Given the description of an element on the screen output the (x, y) to click on. 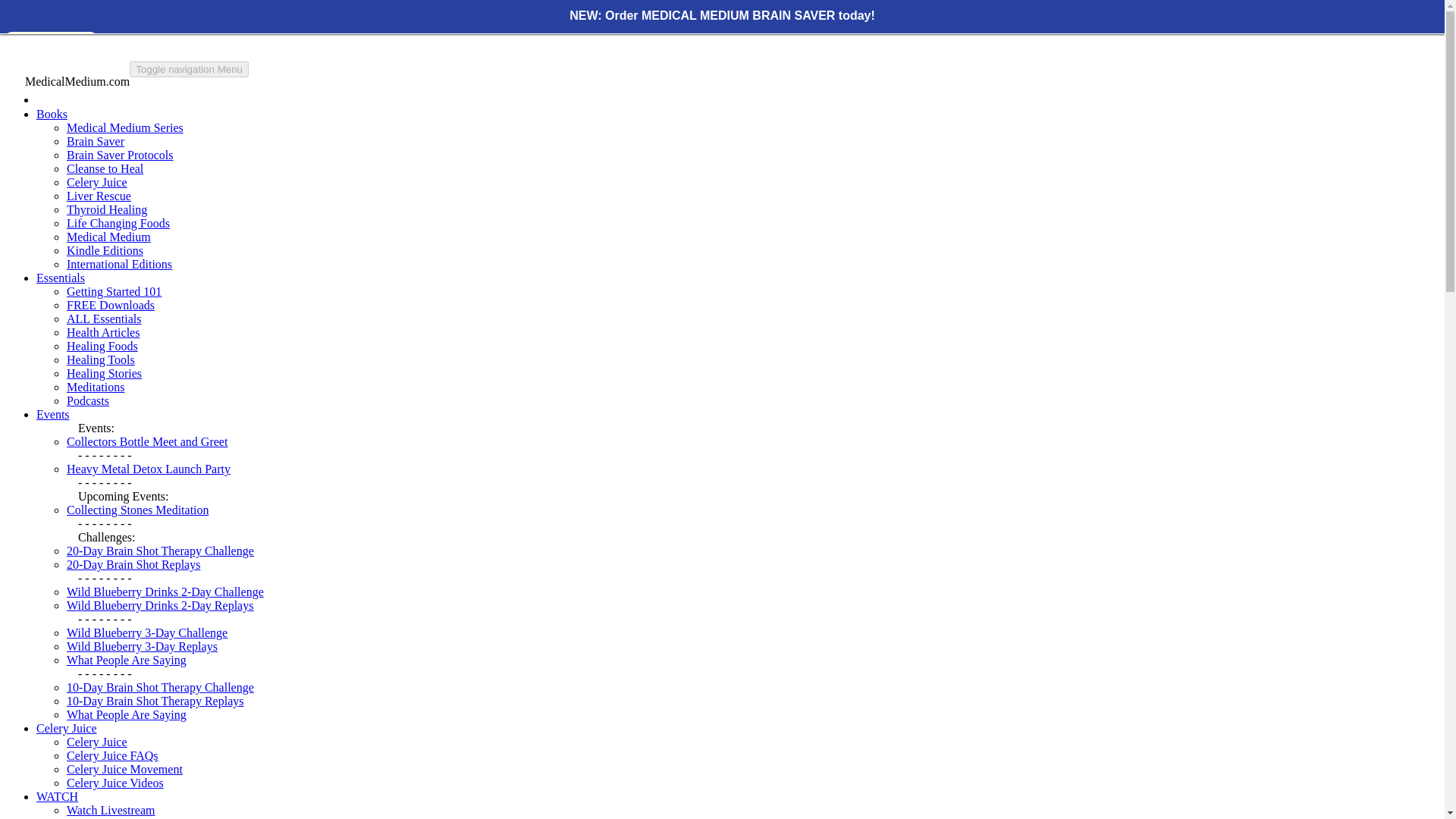
Thyroid Healing (106, 209)
Healing Foods (102, 345)
ALL Essentials (103, 318)
Podcasts (87, 400)
Celery Juice (97, 182)
Heavy Metal Detox Launch Party (148, 468)
20-Day Brain Shot Therapy Challenge (159, 550)
International Editions (118, 264)
Kindle Editions (104, 250)
Cleanse to Heal (104, 168)
